Given the description of an element on the screen output the (x, y) to click on. 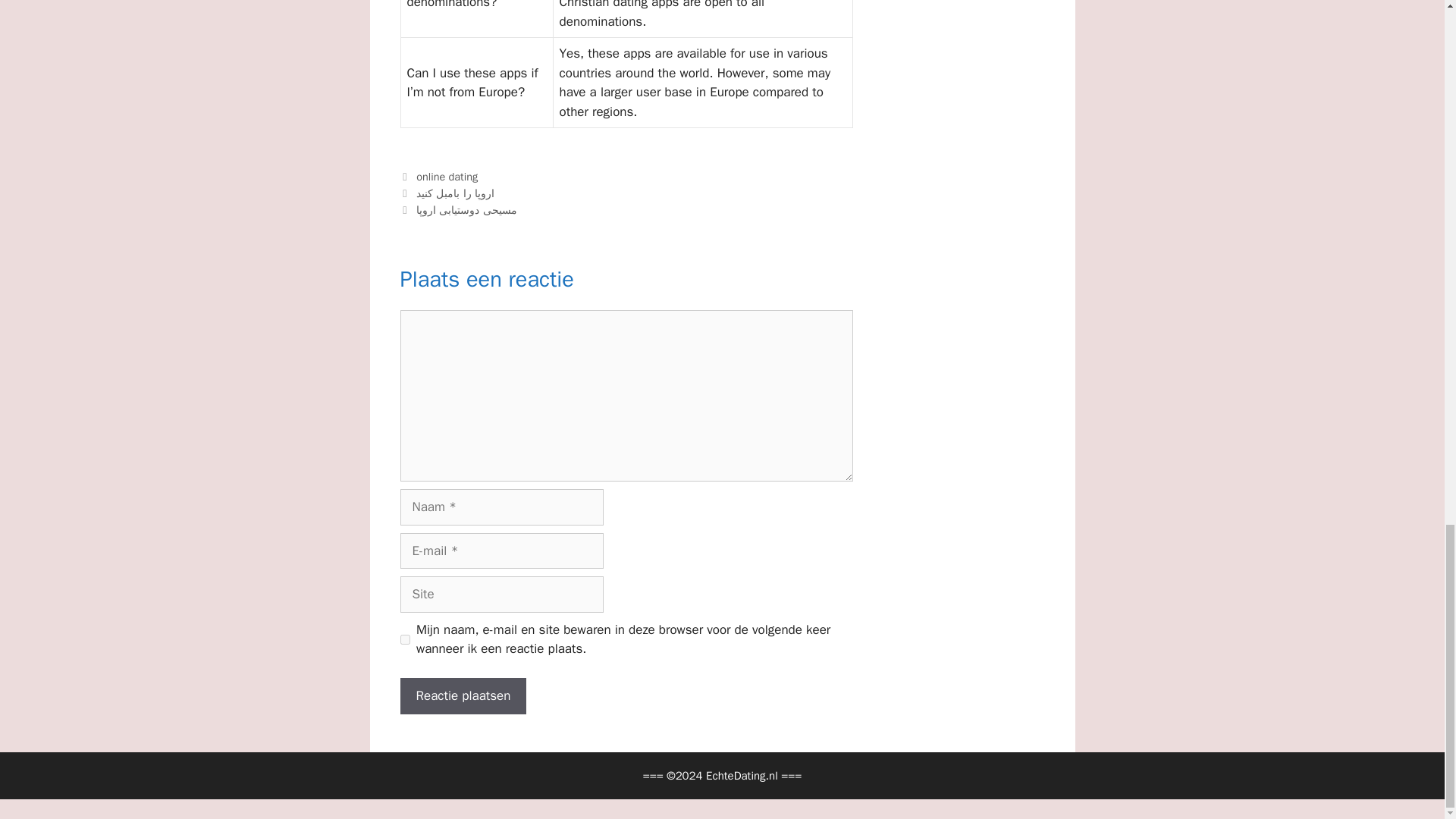
online dating (446, 176)
online dating (446, 176)
Reactie plaatsen (463, 696)
yes (405, 639)
Reactie plaatsen (463, 696)
